Given the description of an element on the screen output the (x, y) to click on. 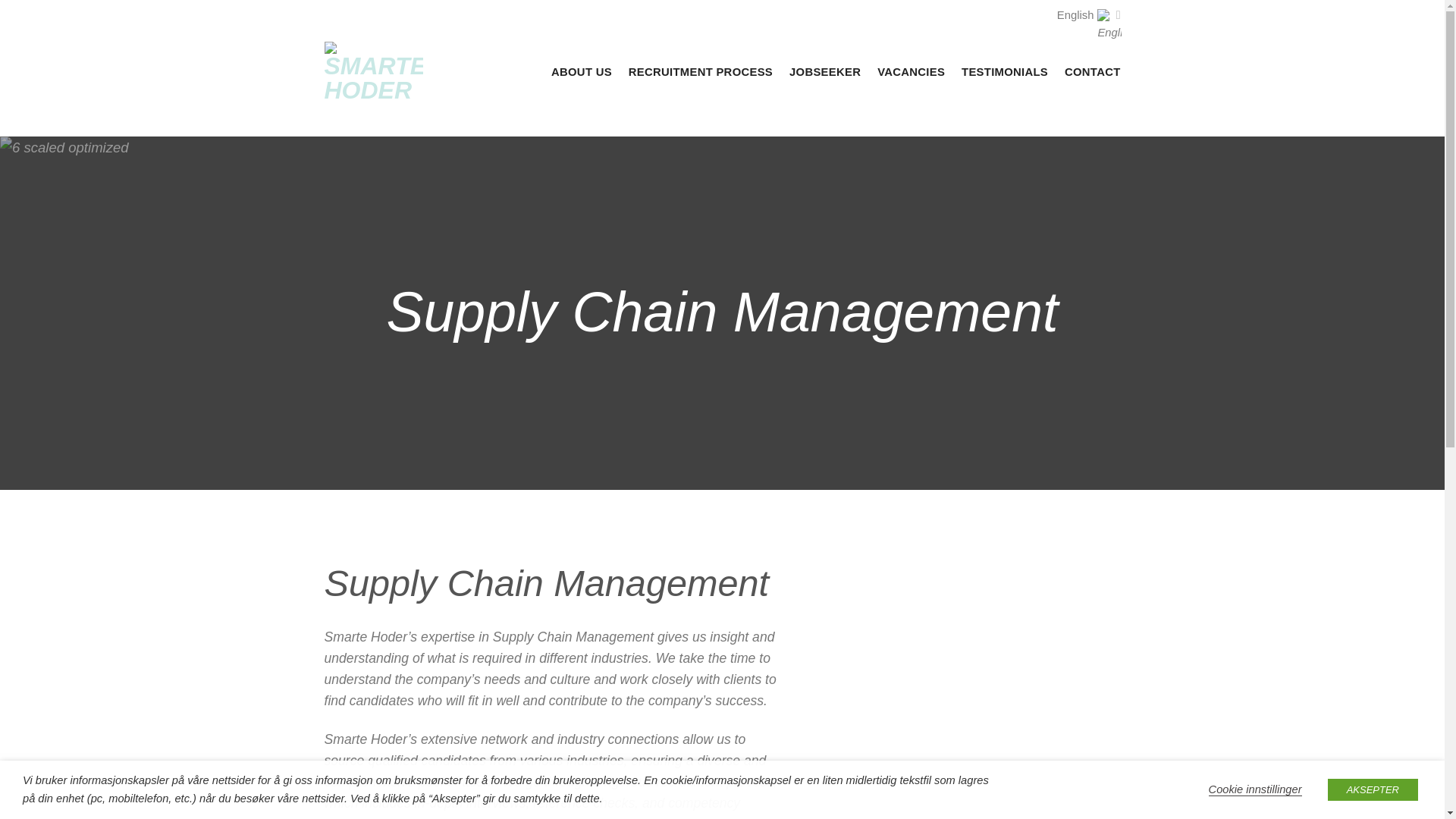
JOBSEEKER (824, 71)
VACANCIES (910, 71)
CONTACT (1091, 71)
Cookie innstillinger (1254, 789)
English (1089, 15)
TESTIMONIALS (1004, 71)
Smarte Hoder AS (373, 71)
AKSEPTER (1372, 789)
RECRUITMENT PROCESS (700, 71)
ABOUT US (581, 71)
